Given the description of an element on the screen output the (x, y) to click on. 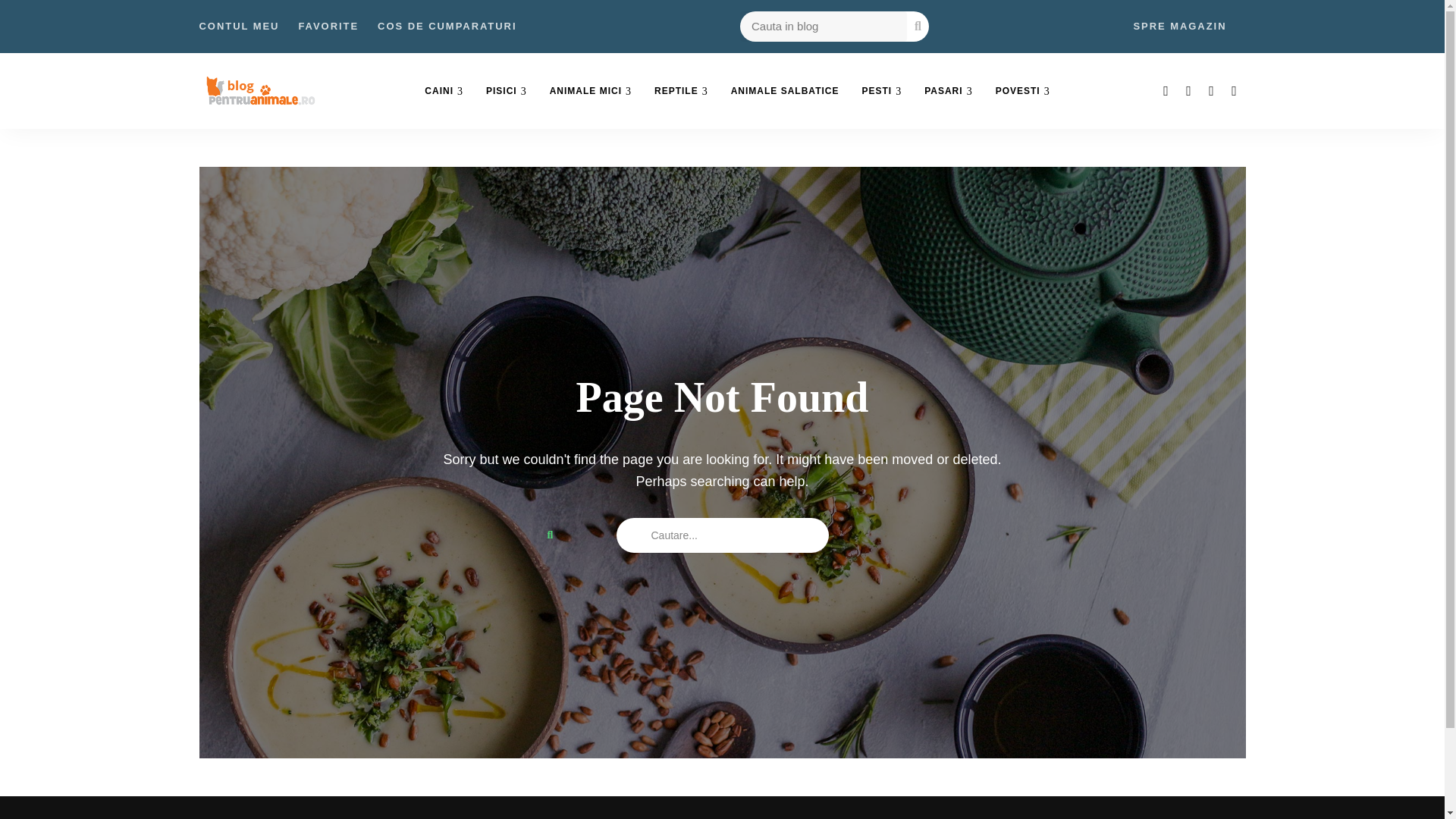
CONTUL MEU (238, 26)
COS DE CUMPARATURI (446, 26)
POVESTI (1022, 90)
FAVORITE (328, 26)
SPRE MAGAZIN (1178, 26)
REPTILE (681, 90)
ANIMALE SALBATICE (784, 90)
PASARI (948, 90)
ANIMALE MICI (590, 90)
